Given the description of an element on the screen output the (x, y) to click on. 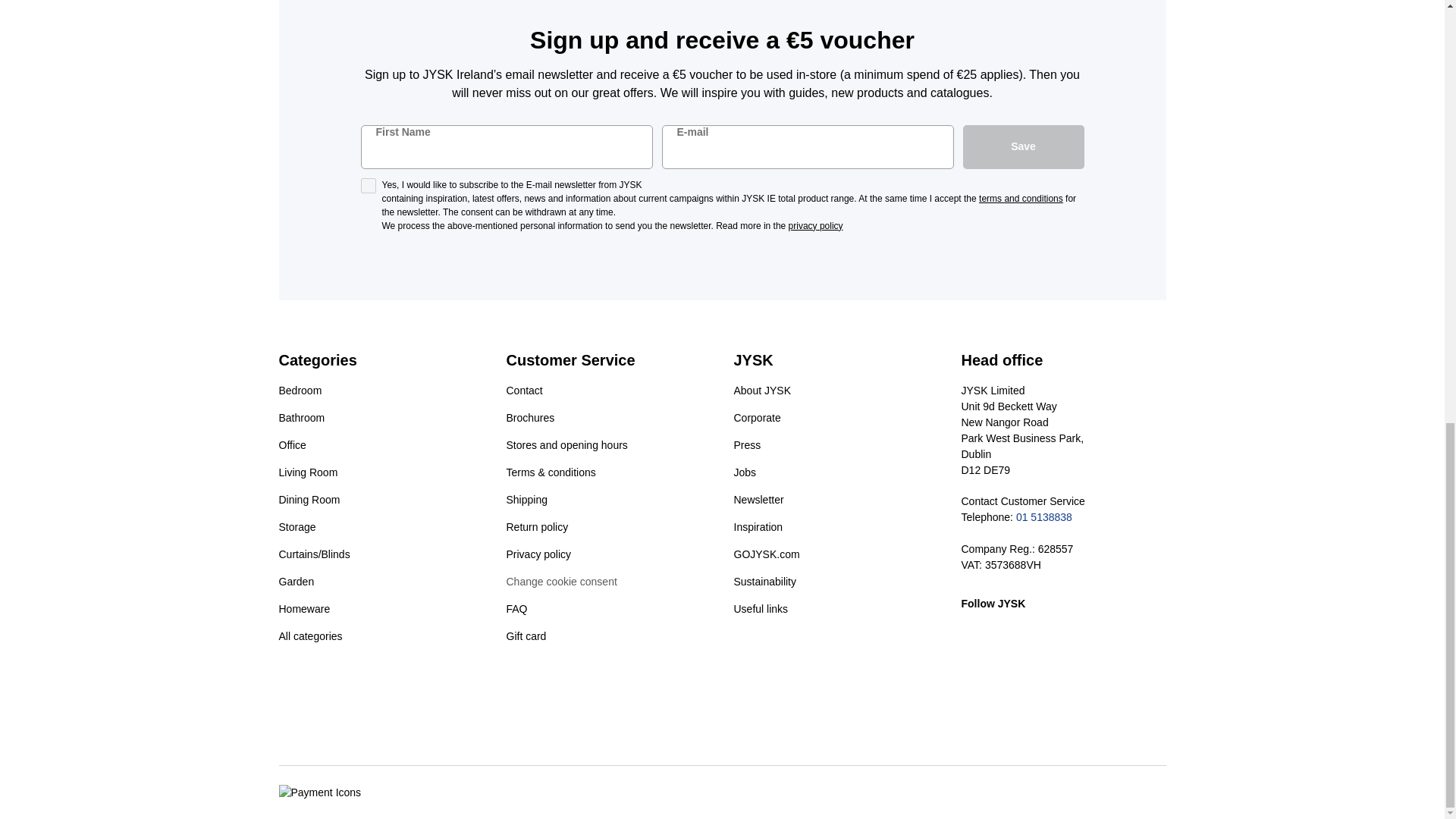
privacy policy (816, 225)
on (368, 185)
Save (1023, 146)
Storage (297, 533)
Office (292, 451)
terms and conditions (1020, 198)
Bedroom (300, 396)
Living Room (308, 478)
Dining Room (309, 505)
Bathroom (301, 423)
